Given the description of an element on the screen output the (x, y) to click on. 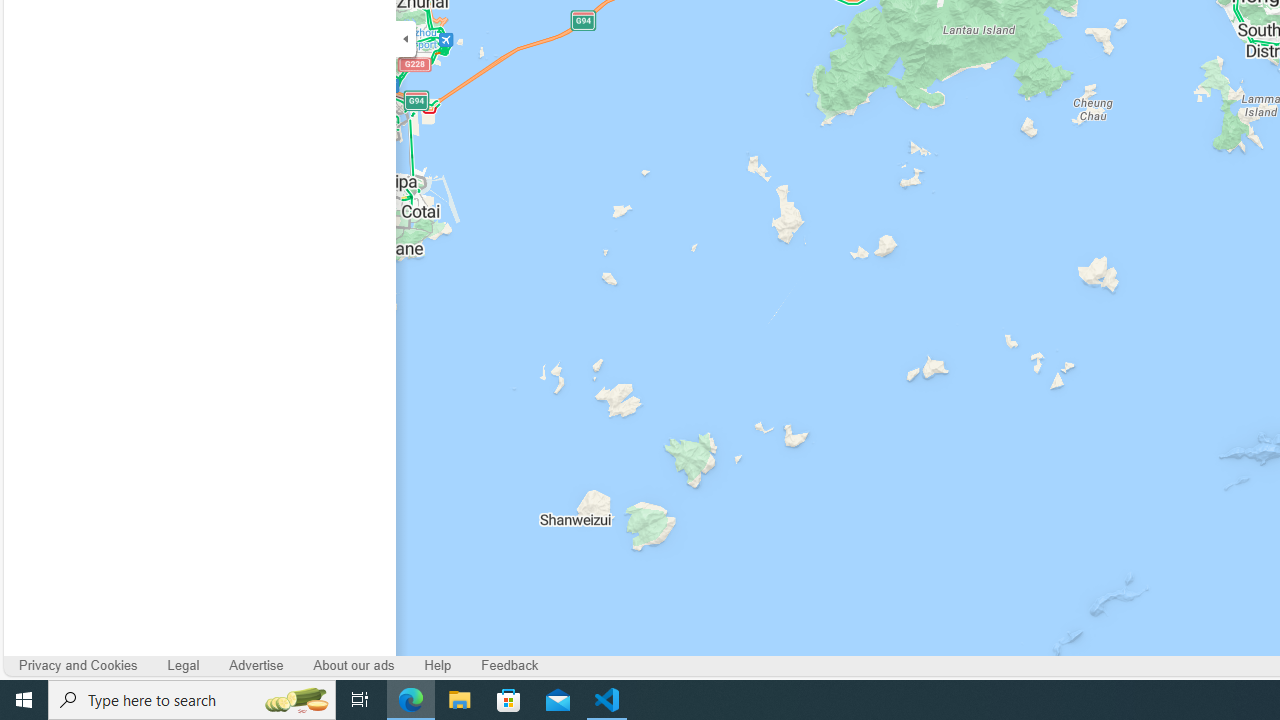
About our ads (353, 665)
Privacy and Cookies (78, 665)
Expand/Collapse Cards (405, 38)
Privacy and Cookies (78, 665)
About our ads (354, 665)
